Given the description of an element on the screen output the (x, y) to click on. 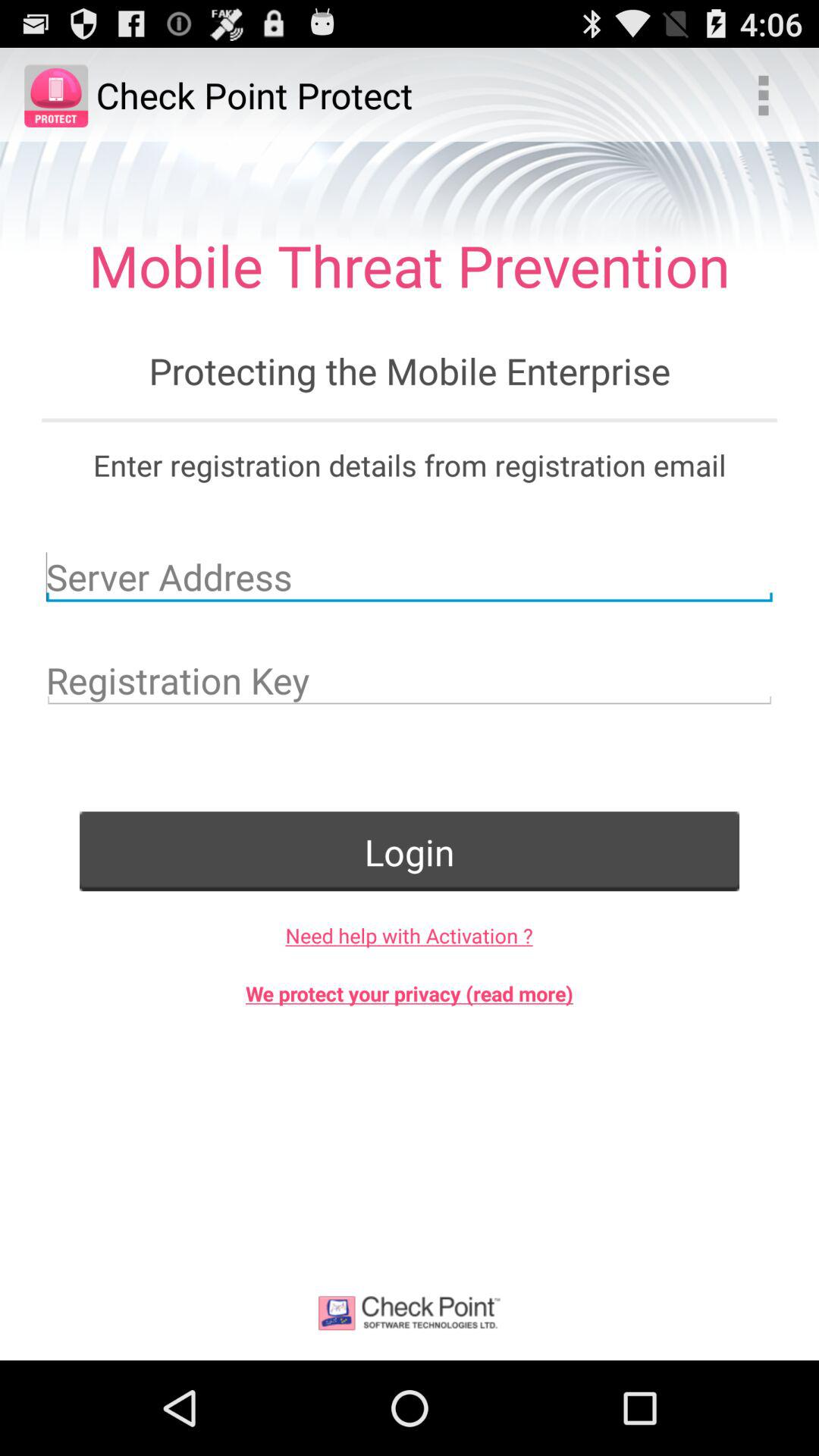
enter registration number (409, 680)
